Given the description of an element on the screen output the (x, y) to click on. 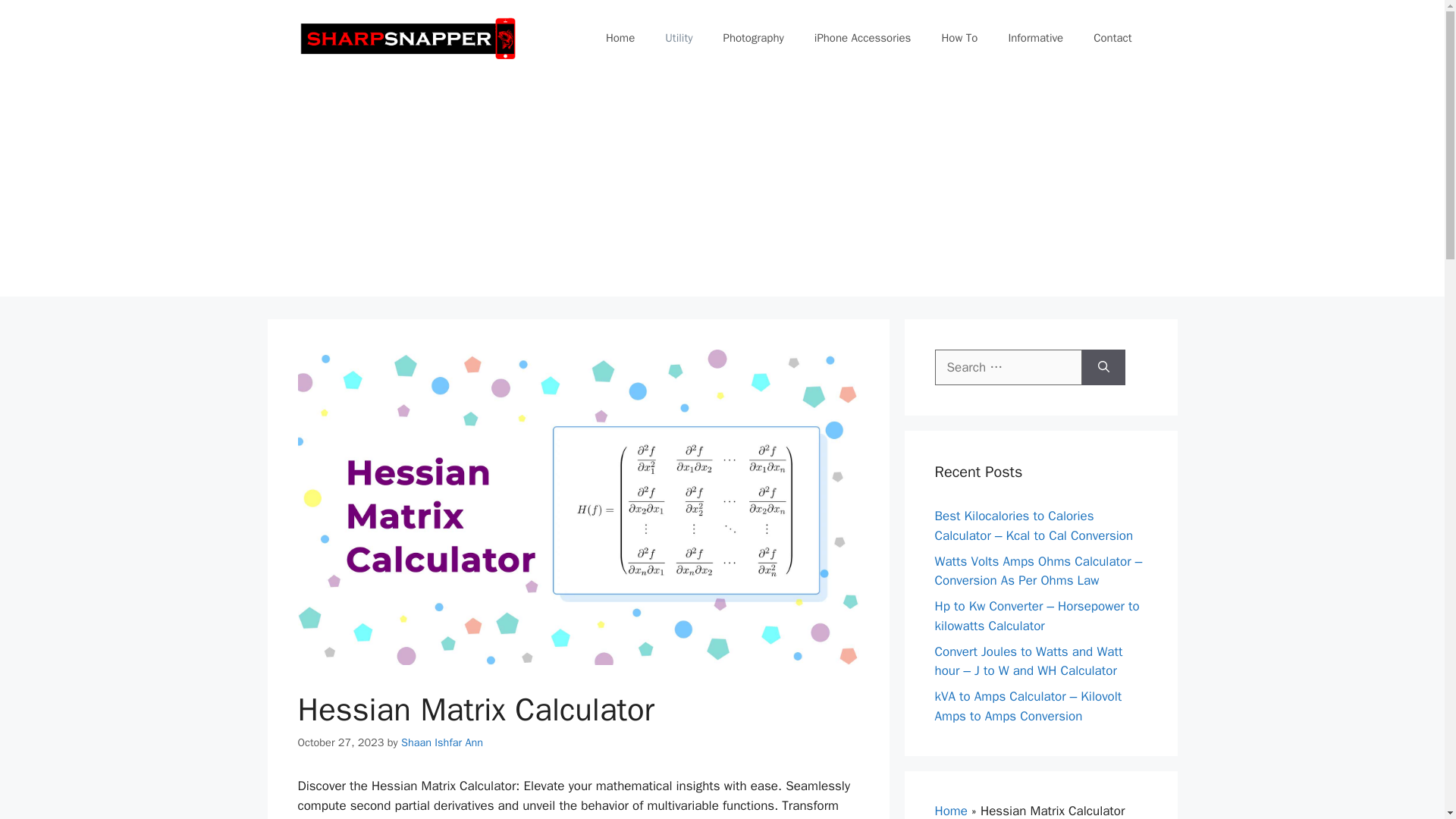
How To (959, 37)
Contact (1112, 37)
View all posts by Shaan Ishfar Ann (442, 742)
Home (950, 811)
Photography (753, 37)
Search for: (1007, 367)
Home (620, 37)
iPhone Accessories (862, 37)
Utility (678, 37)
Informative (1035, 37)
Shaan Ishfar Ann (442, 742)
